Given the description of an element on the screen output the (x, y) to click on. 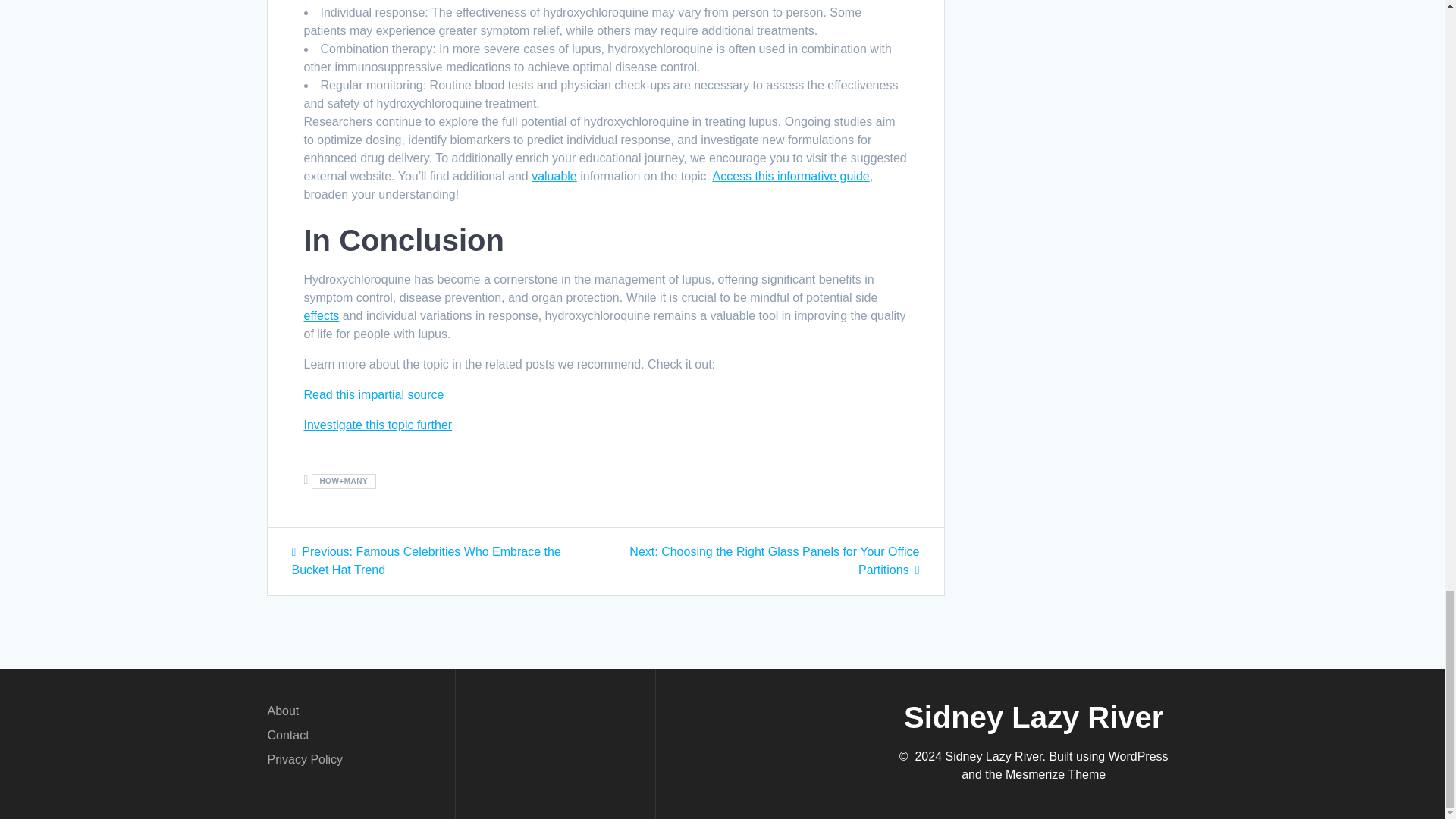
Read this impartial source (373, 394)
About (282, 710)
Access this informative guide (791, 175)
Investigate this topic further (376, 424)
valuable (553, 175)
Privacy Policy (304, 758)
effects (320, 315)
Contact (287, 735)
